Given the description of an element on the screen output the (x, y) to click on. 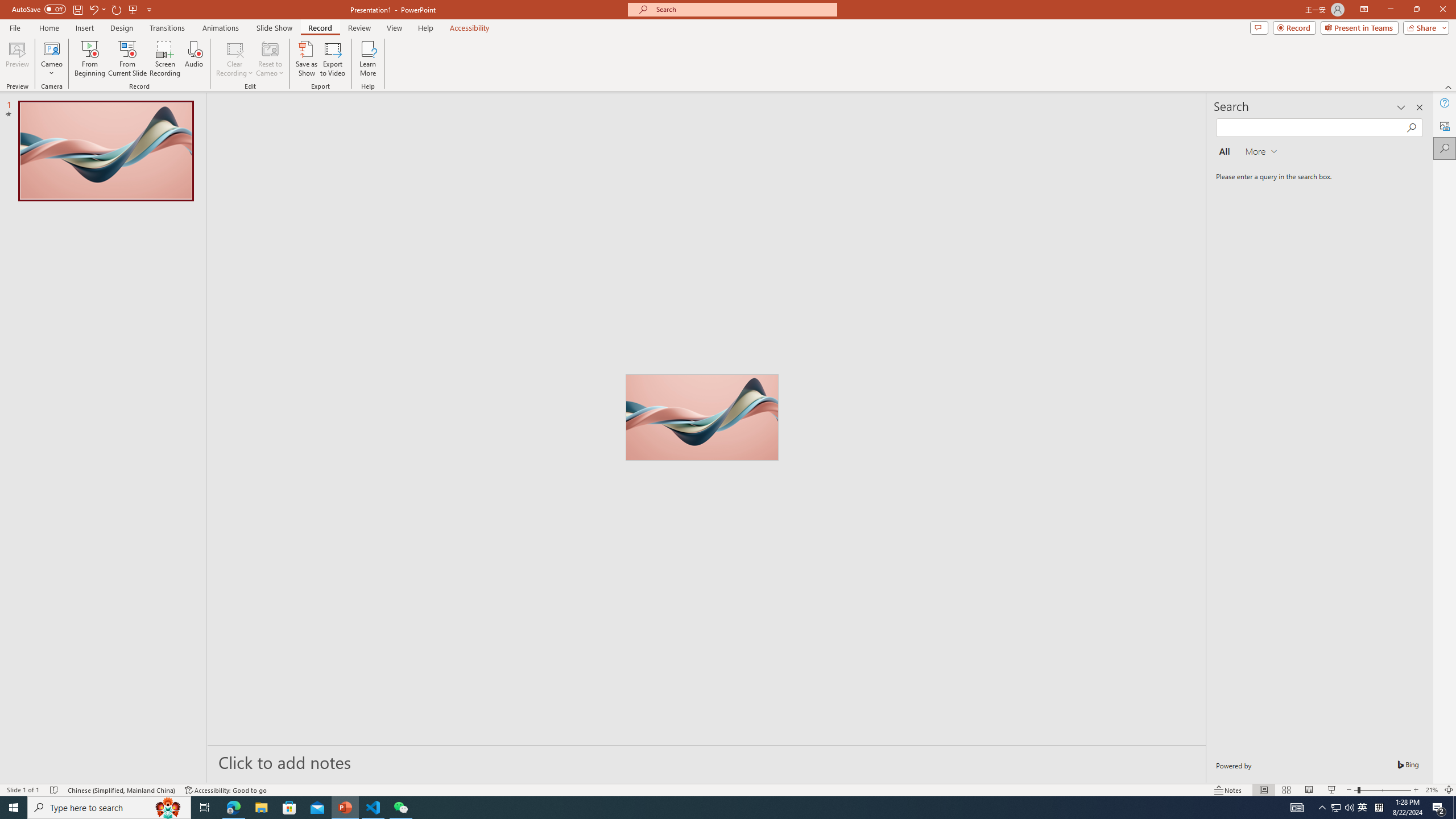
Learn More (368, 58)
Clear Recording (234, 58)
Save as Show (306, 58)
From Beginning... (89, 58)
Reset to Cameo (269, 58)
Audio (193, 58)
